Given the description of an element on the screen output the (x, y) to click on. 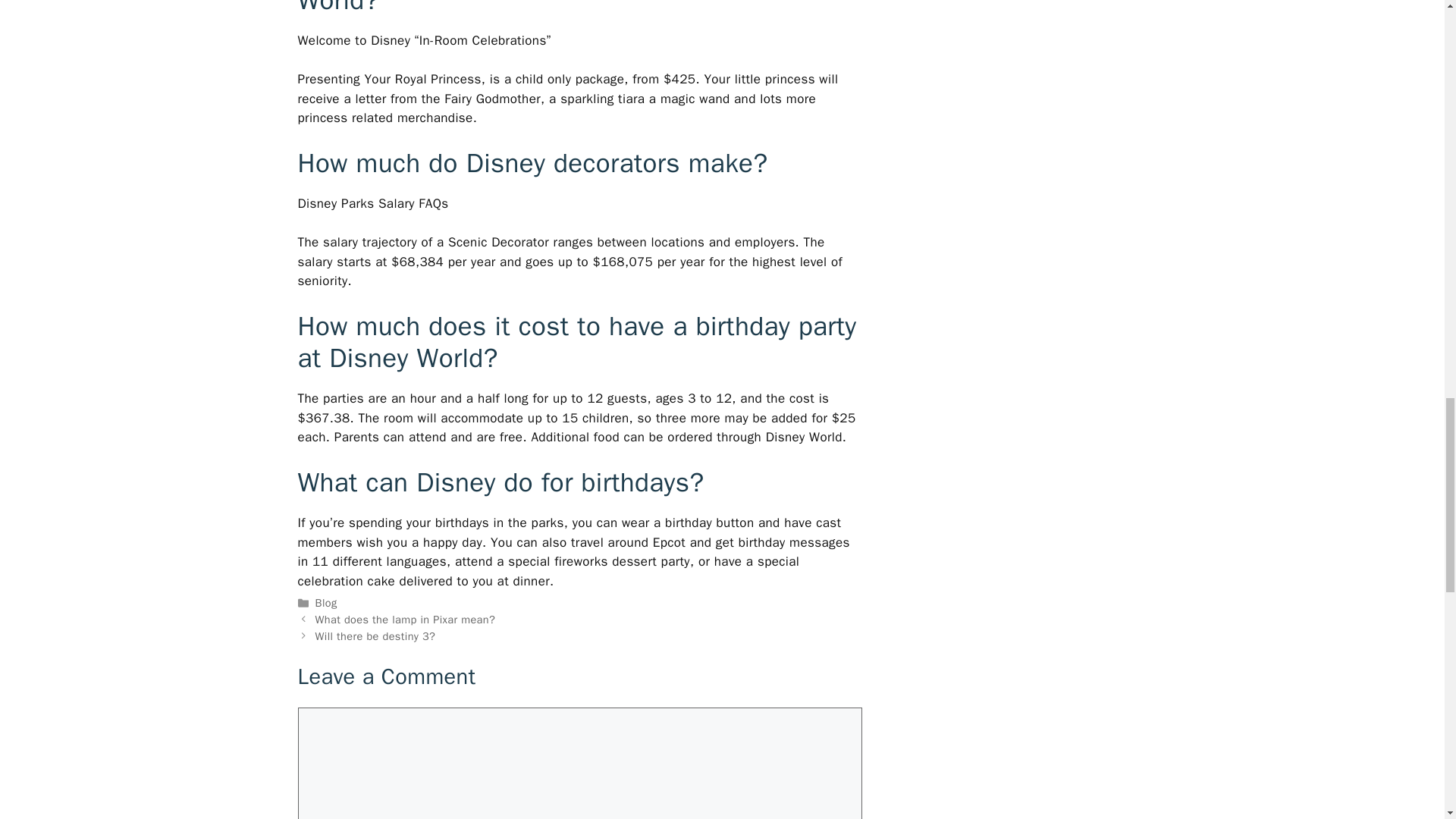
What does the lamp in Pixar mean? (405, 619)
Will there be destiny 3? (375, 635)
Blog (326, 602)
